Given the description of an element on the screen output the (x, y) to click on. 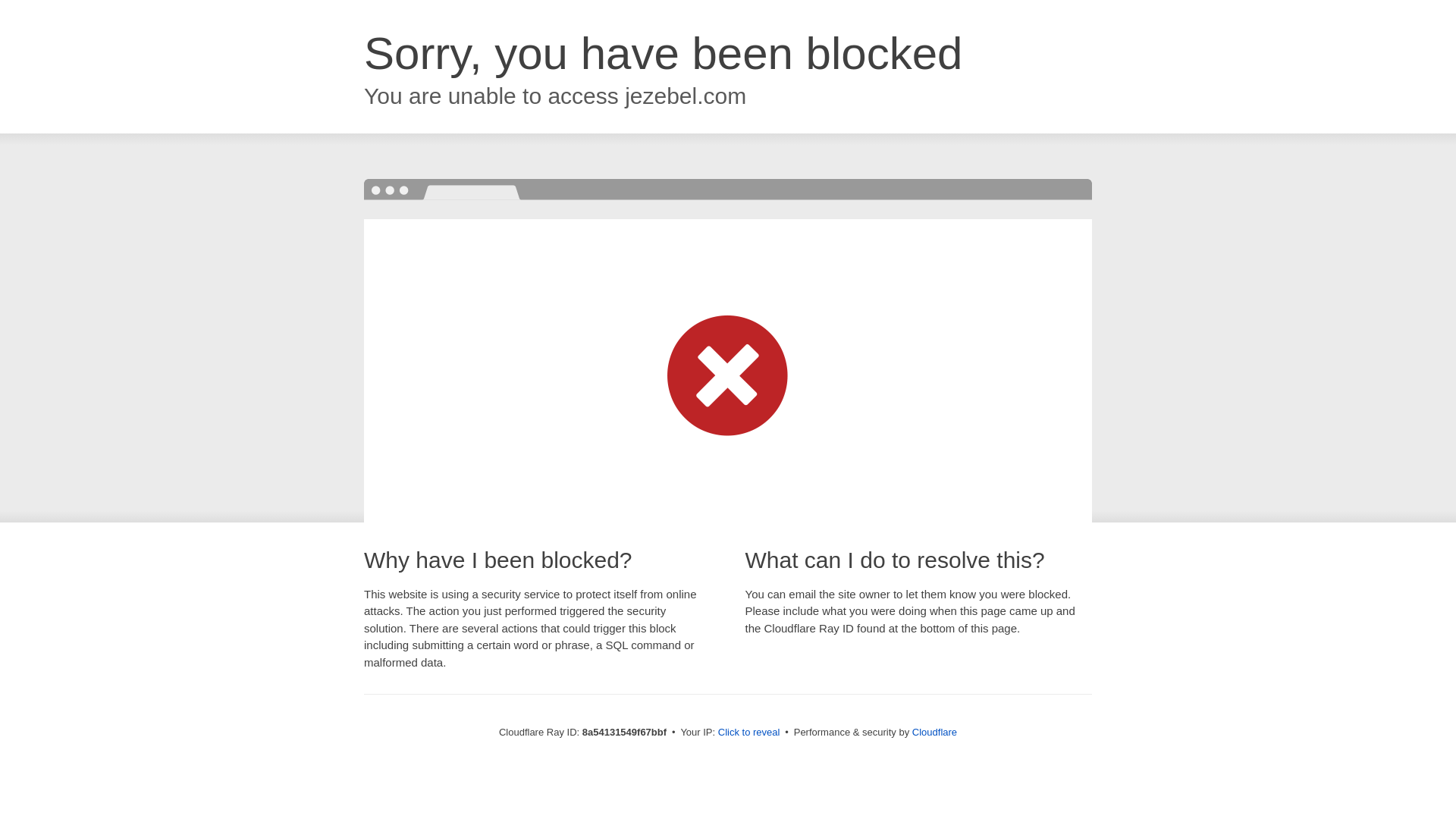
Click to reveal (748, 732)
Cloudflare (934, 731)
